Given the description of an element on the screen output the (x, y) to click on. 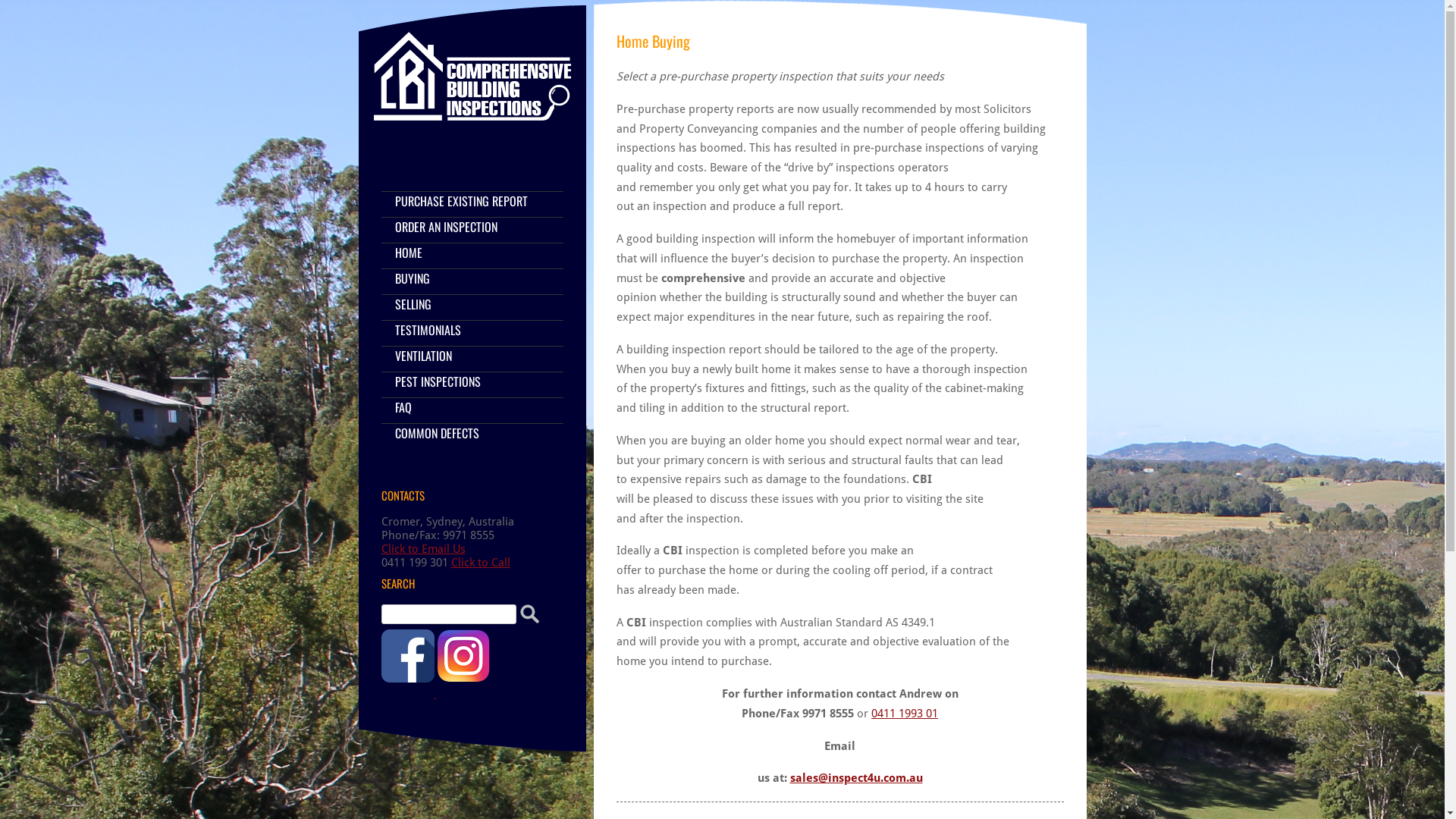
0411 1993 01 Element type: text (904, 713)
VENTILATION Element type: text (422, 355)
SKIP TO CONTENT Element type: text (517, 208)
PEST INSPECTIONS Element type: text (436, 381)
sales@inspect4u.com.au Element type: text (856, 777)
BUYING Element type: text (411, 278)
Click to Call Element type: text (479, 562)
Click to Email Us Element type: text (422, 548)
TESTIMONIALS Element type: text (426, 329)
Comprehensive Building Inspections Element type: hover (471, 92)
FAQ Element type: text (402, 407)
HOME Element type: text (407, 252)
COMMON DEFECTS Element type: text (436, 432)
Search Element type: text (529, 613)
ORDER AN INSPECTION Element type: text (445, 226)
SELLING Element type: text (412, 303)
PURCHASE EXISTING REPORT Element type: text (460, 200)
